Given the description of an element on the screen output the (x, y) to click on. 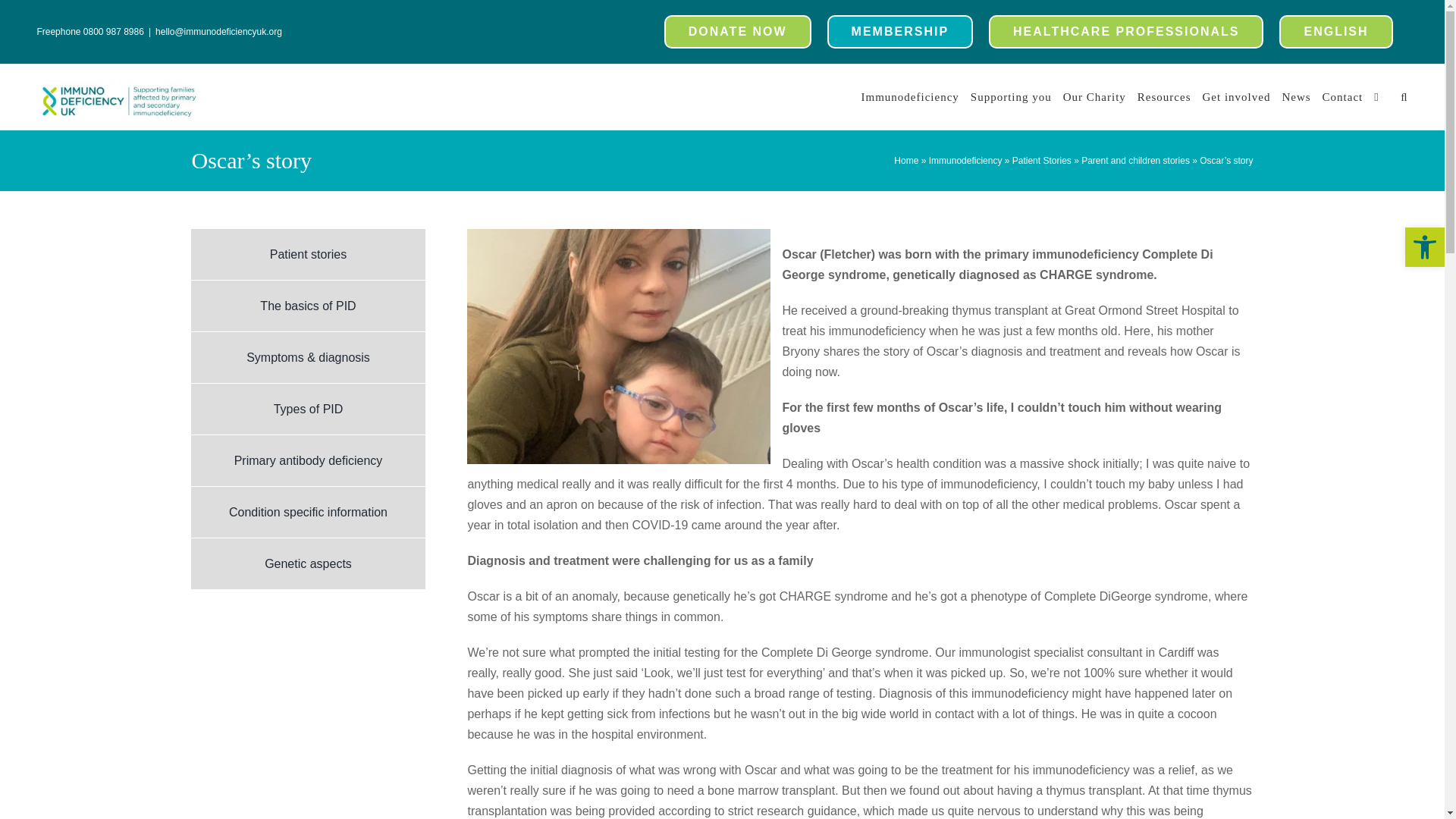
Supporting you (1011, 95)
MEMBERSHIP (899, 31)
HEALTHCARE PROFESSIONALS (1125, 31)
ENGLISH (1335, 31)
Immunodeficiency (910, 95)
DONATE NOW (736, 31)
Accessibility (1424, 247)
